Given the description of an element on the screen output the (x, y) to click on. 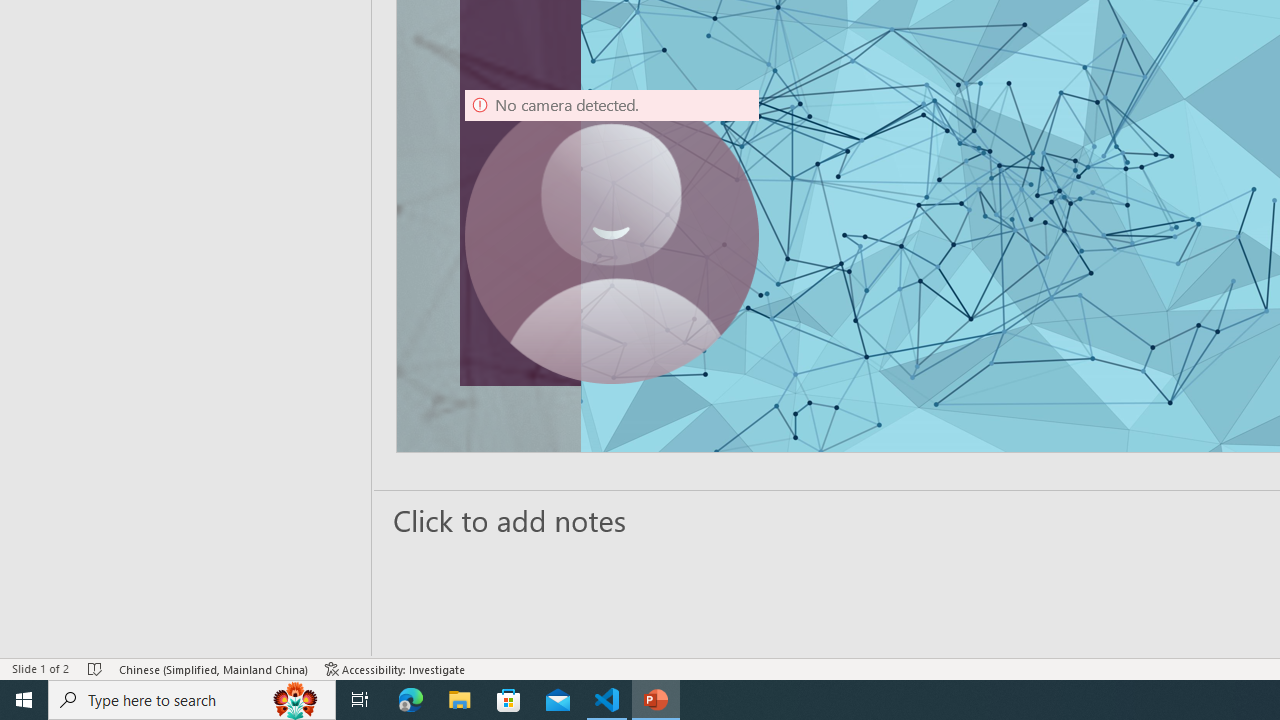
Accessibility Checker Accessibility: Investigate (395, 668)
Spell Check No Errors (95, 668)
Camera 9, No camera detected. (612, 236)
